Given the description of an element on the screen output the (x, y) to click on. 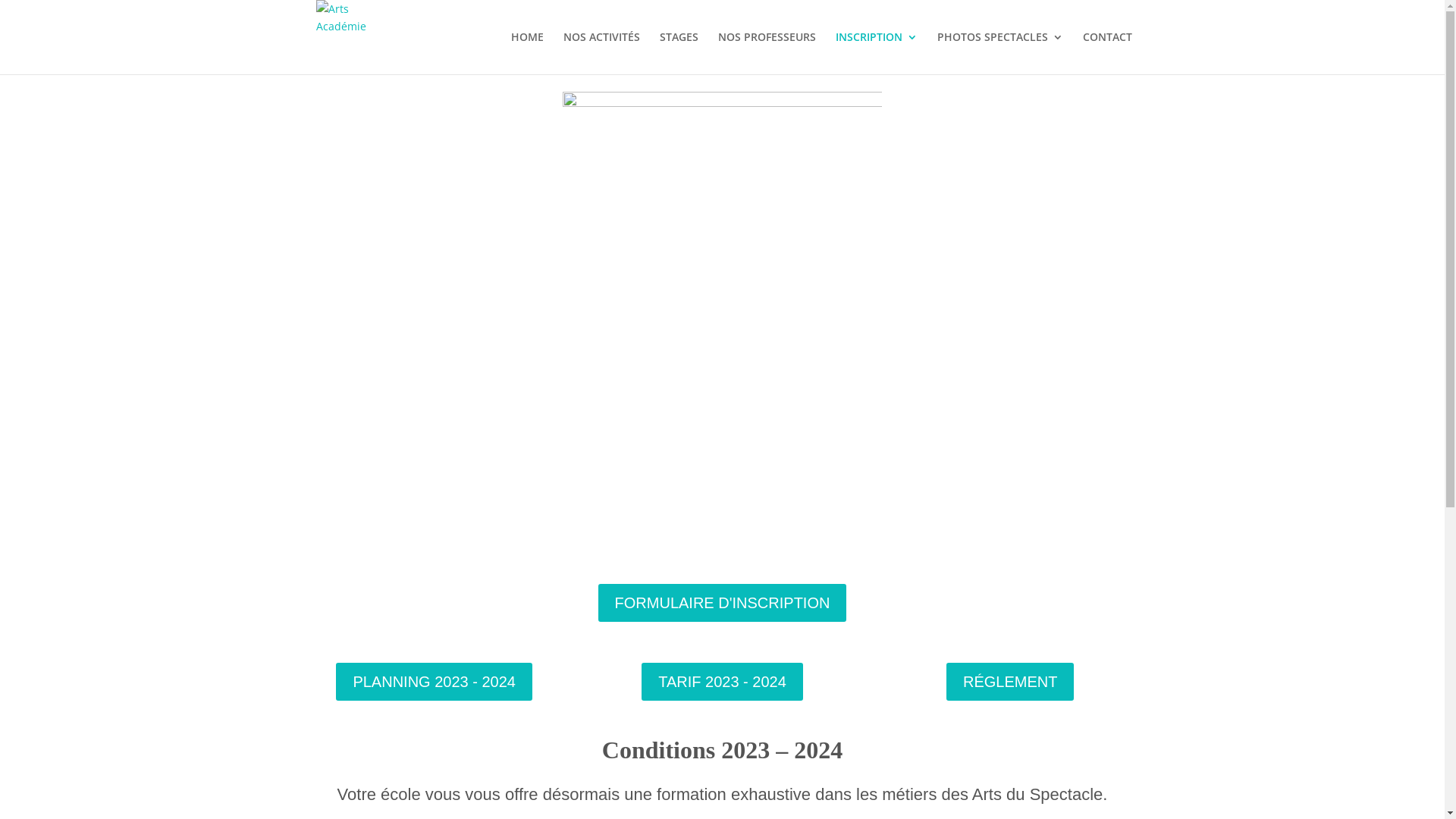
HOME Element type: text (527, 52)
INSCRIPTION Element type: text (876, 52)
FORMULAIRE D'INSCRIPTION Element type: text (722, 602)
STAGES Element type: text (678, 52)
PLANNING 2023 - 2024 Element type: text (433, 681)
PHOTOS SPECTACLES Element type: text (1000, 52)
NOS PROFESSEURS Element type: text (766, 52)
CONTACT Element type: text (1107, 52)
TARIF 2023 - 2024 Element type: text (722, 681)
